Given the description of an element on the screen output the (x, y) to click on. 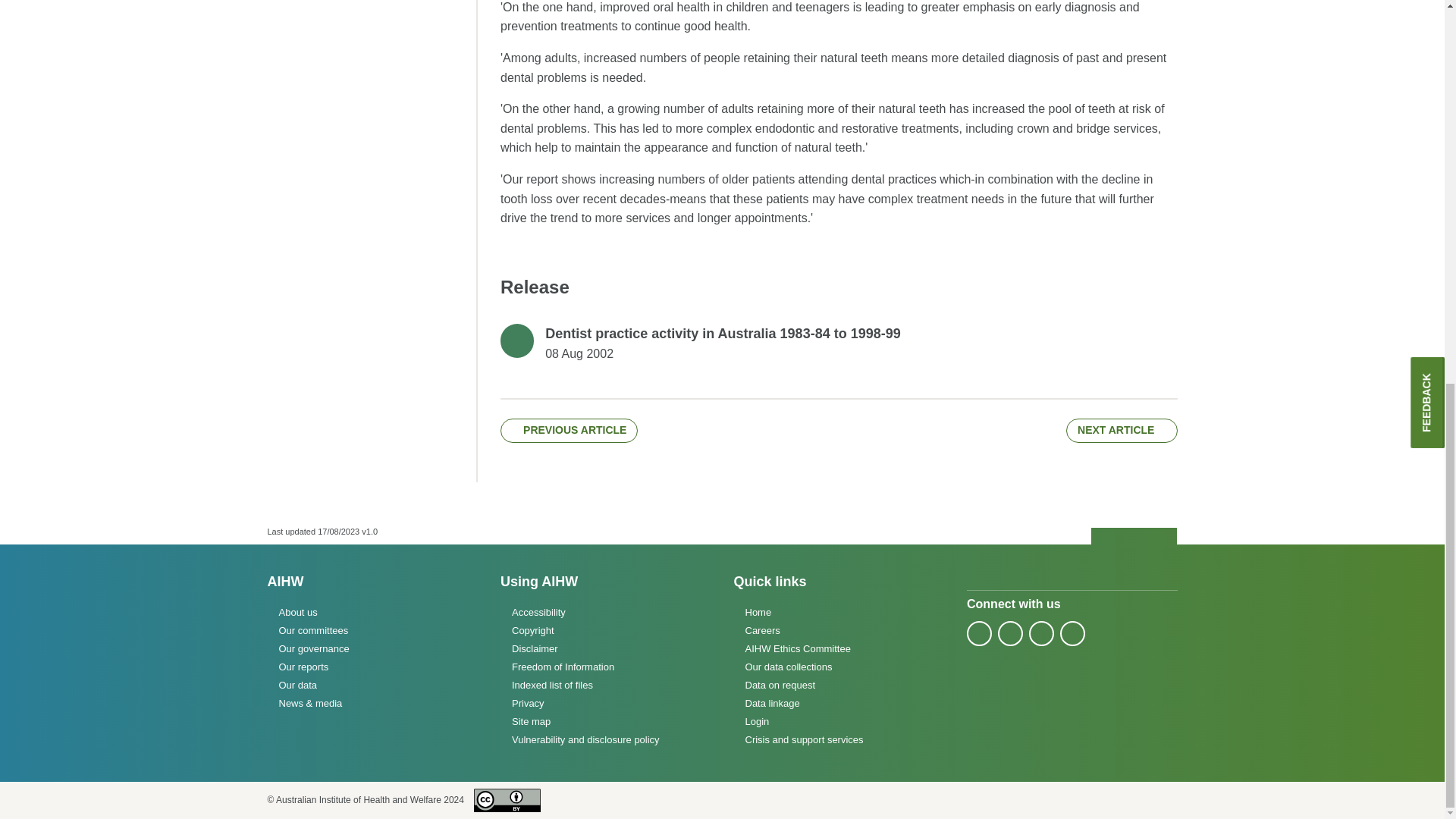
Back to top (1133, 537)
